Given the description of an element on the screen output the (x, y) to click on. 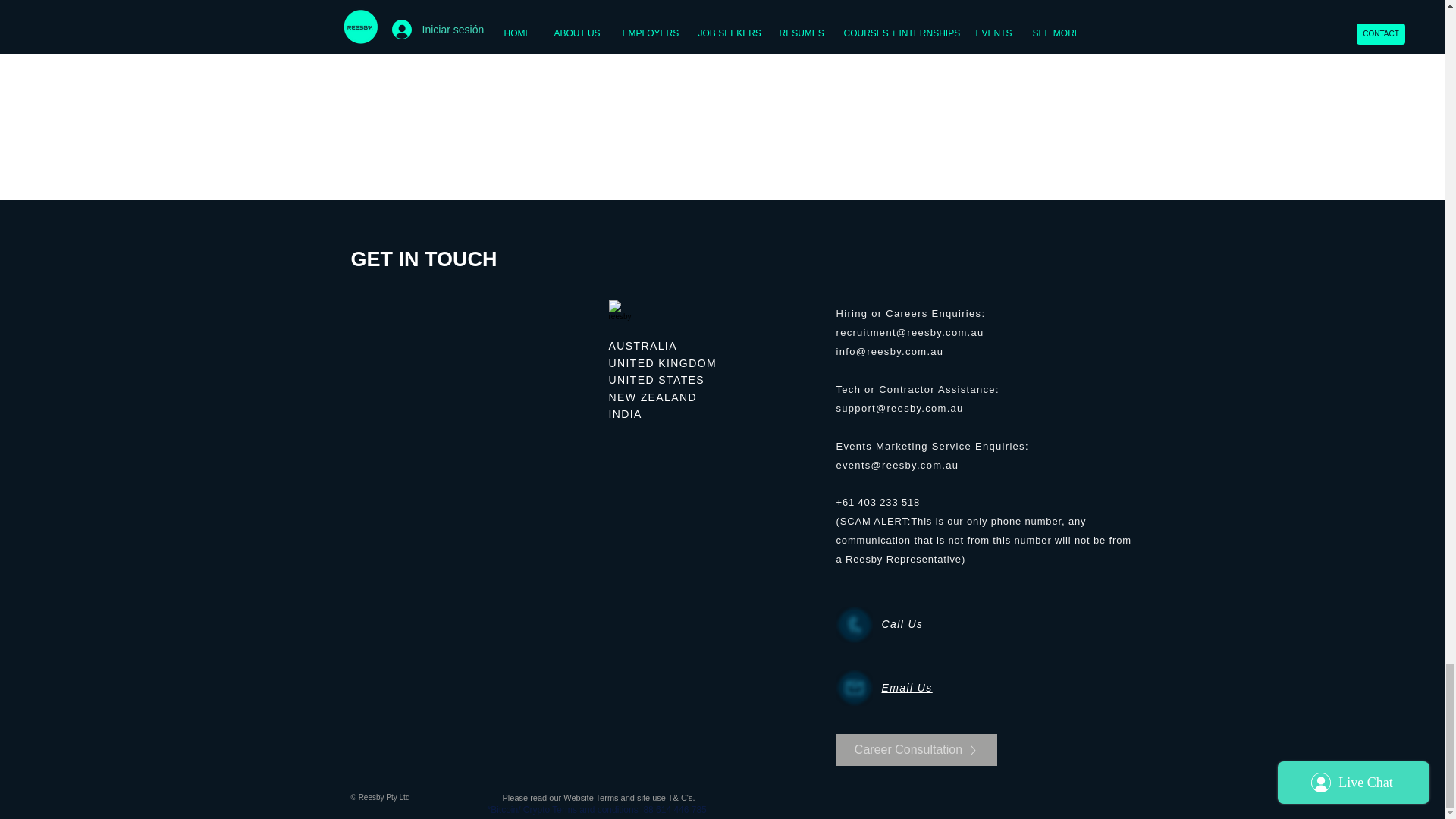
Embedded Content (575, 407)
Google Maps (470, 375)
